Given the description of an element on the screen output the (x, y) to click on. 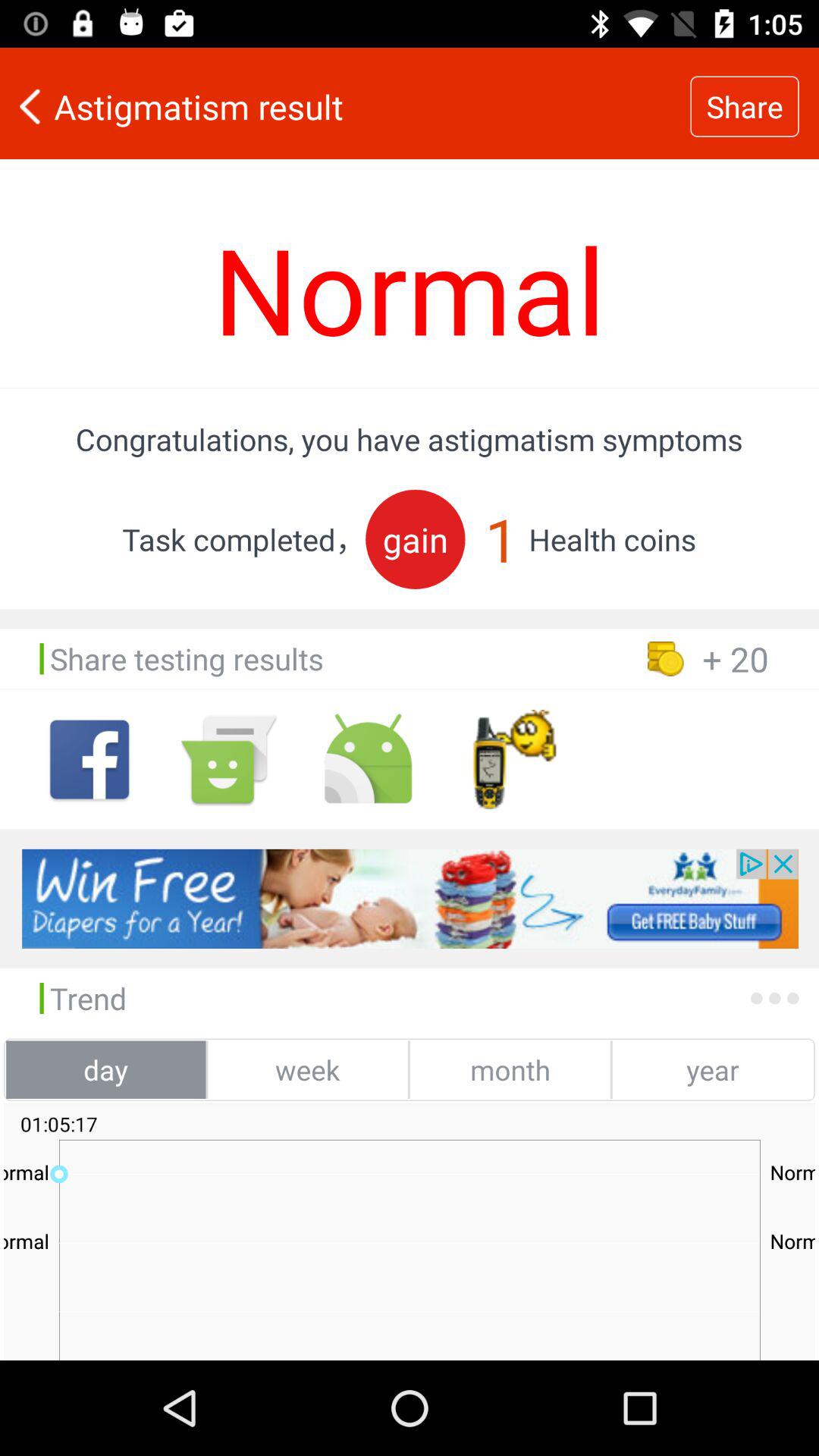
open the icon above normal icon (345, 106)
